Given the description of an element on the screen output the (x, y) to click on. 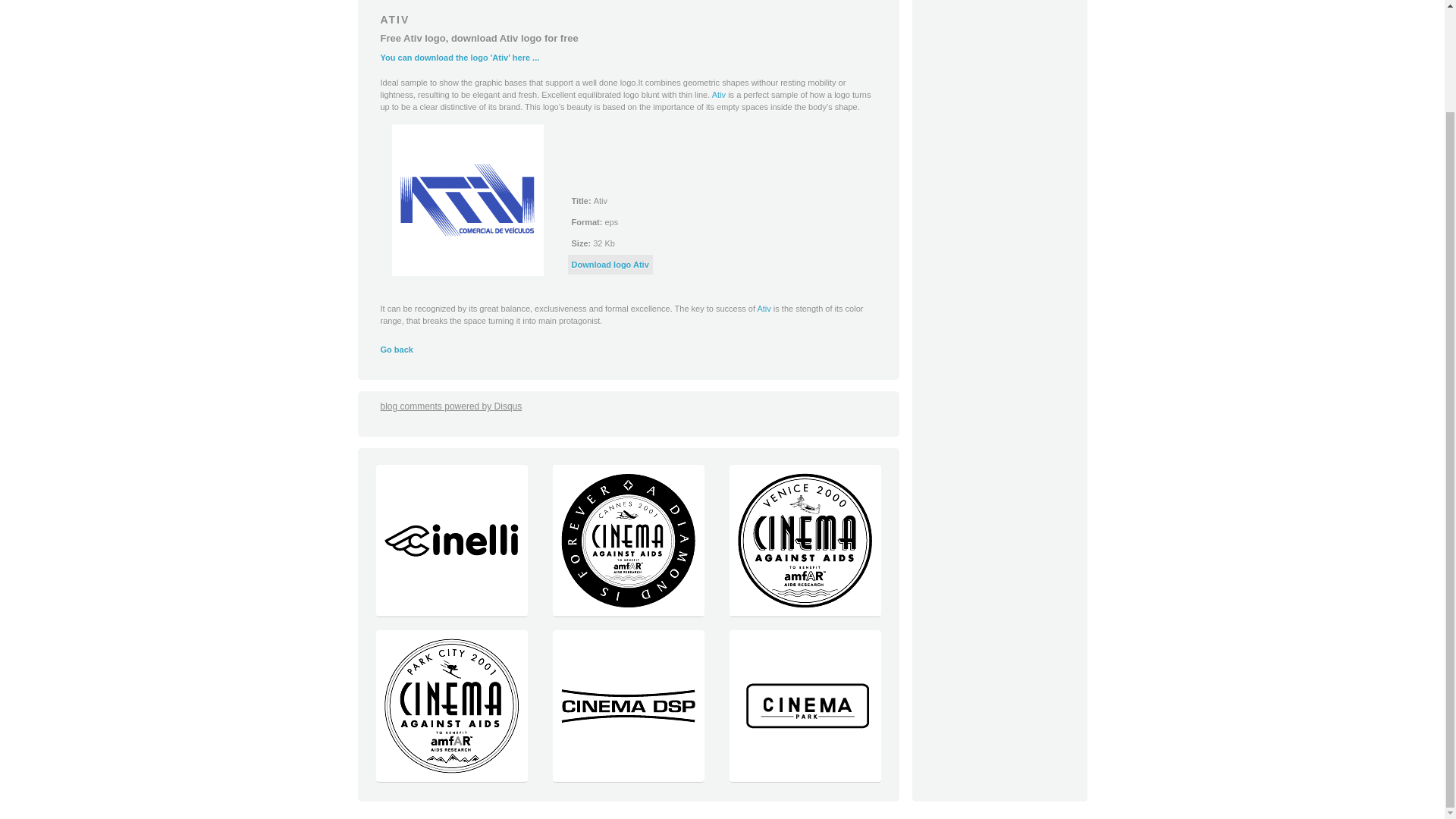
Ativ (718, 94)
Download Logo Cinema Park (804, 778)
Ativ (763, 307)
Download Logo Cinema Against AIDS (450, 778)
Download Ativ (610, 264)
Download Logo Cinema DSP (627, 778)
Download Logo Cinema Against AIDS (804, 612)
Download Logo Cinelli (450, 612)
Ativ (718, 94)
Go back (396, 348)
